Given the description of an element on the screen output the (x, y) to click on. 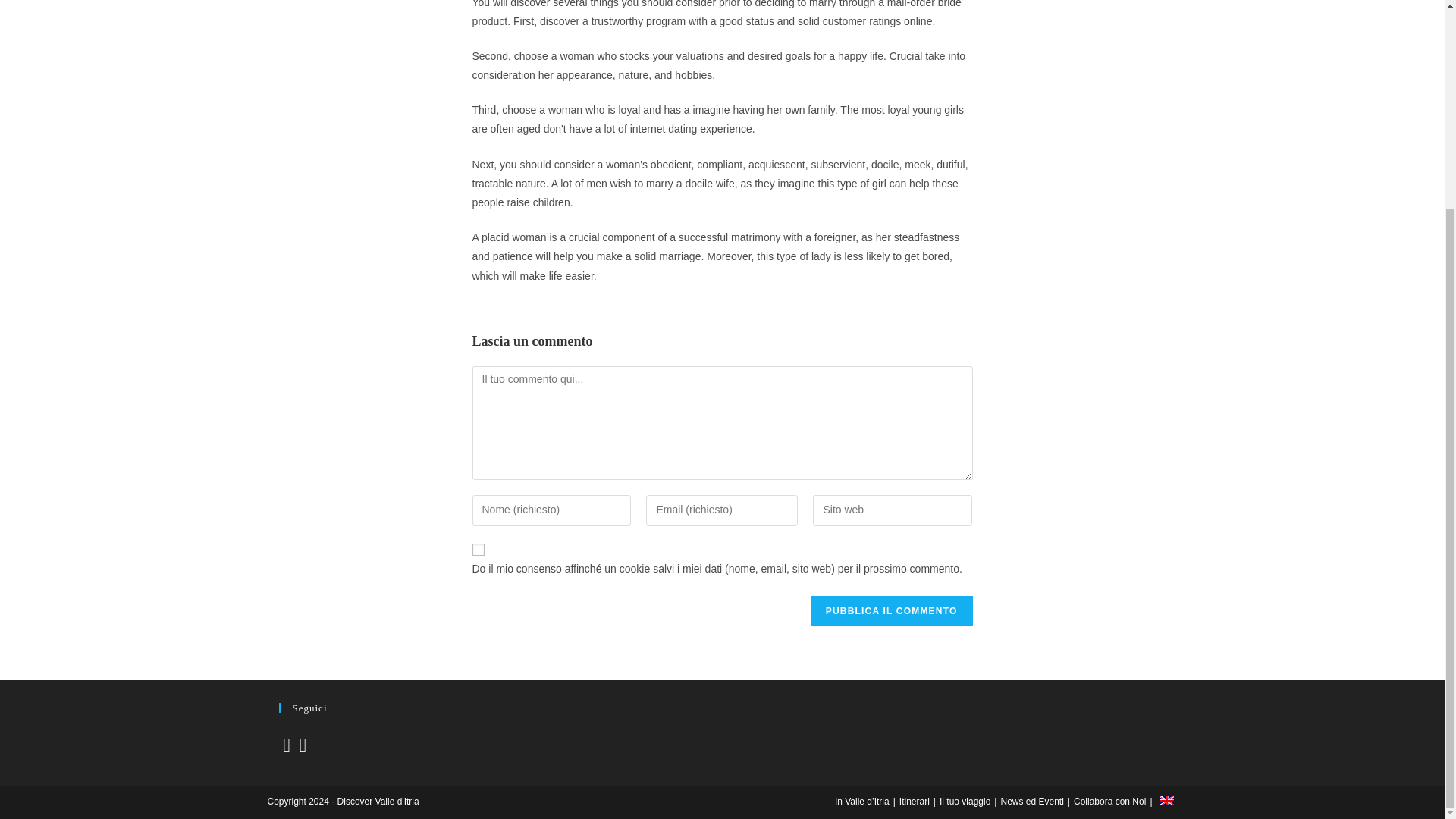
News ed Eventi (1031, 801)
English (1166, 800)
Itinerari (914, 801)
yes (477, 549)
Pubblica il commento (891, 611)
Collabora con Noi (1109, 801)
Pubblica il commento (891, 611)
Il tuo viaggio (964, 801)
